Given the description of an element on the screen output the (x, y) to click on. 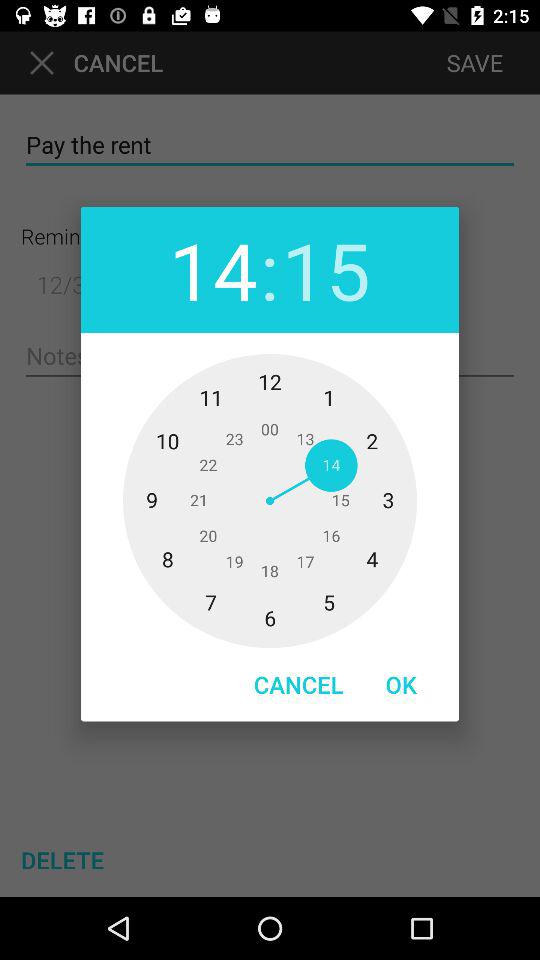
turn on icon next to the cancel item (401, 684)
